Given the description of an element on the screen output the (x, y) to click on. 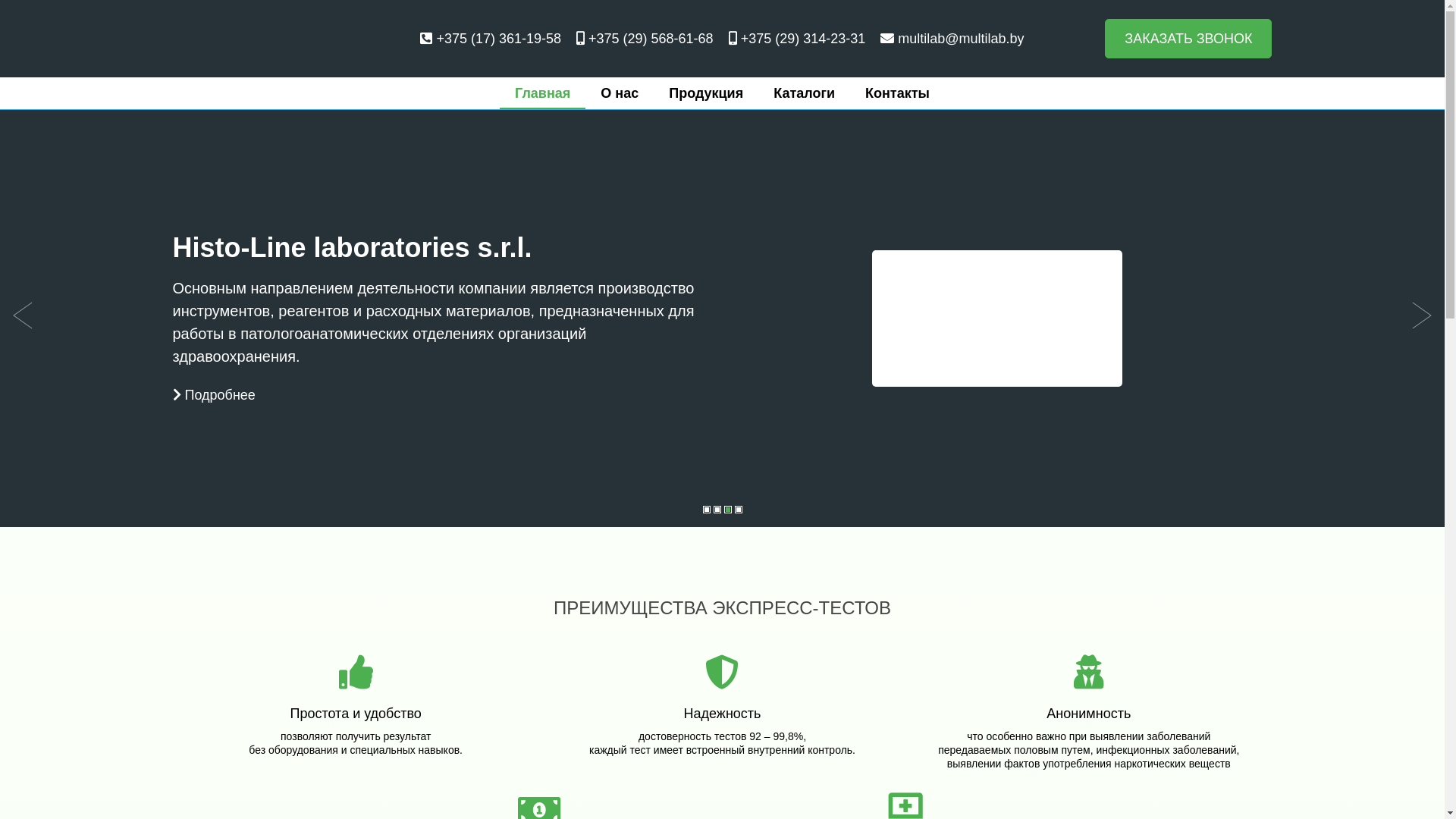
+375 (17) 361-19-58 Element type: text (490, 38)
+375 (29) 314-23-31 Element type: text (797, 38)
+375 (29) 568-61-68 Element type: text (644, 38)
multilab@multilab.by Element type: text (951, 38)
